Given the description of an element on the screen output the (x, y) to click on. 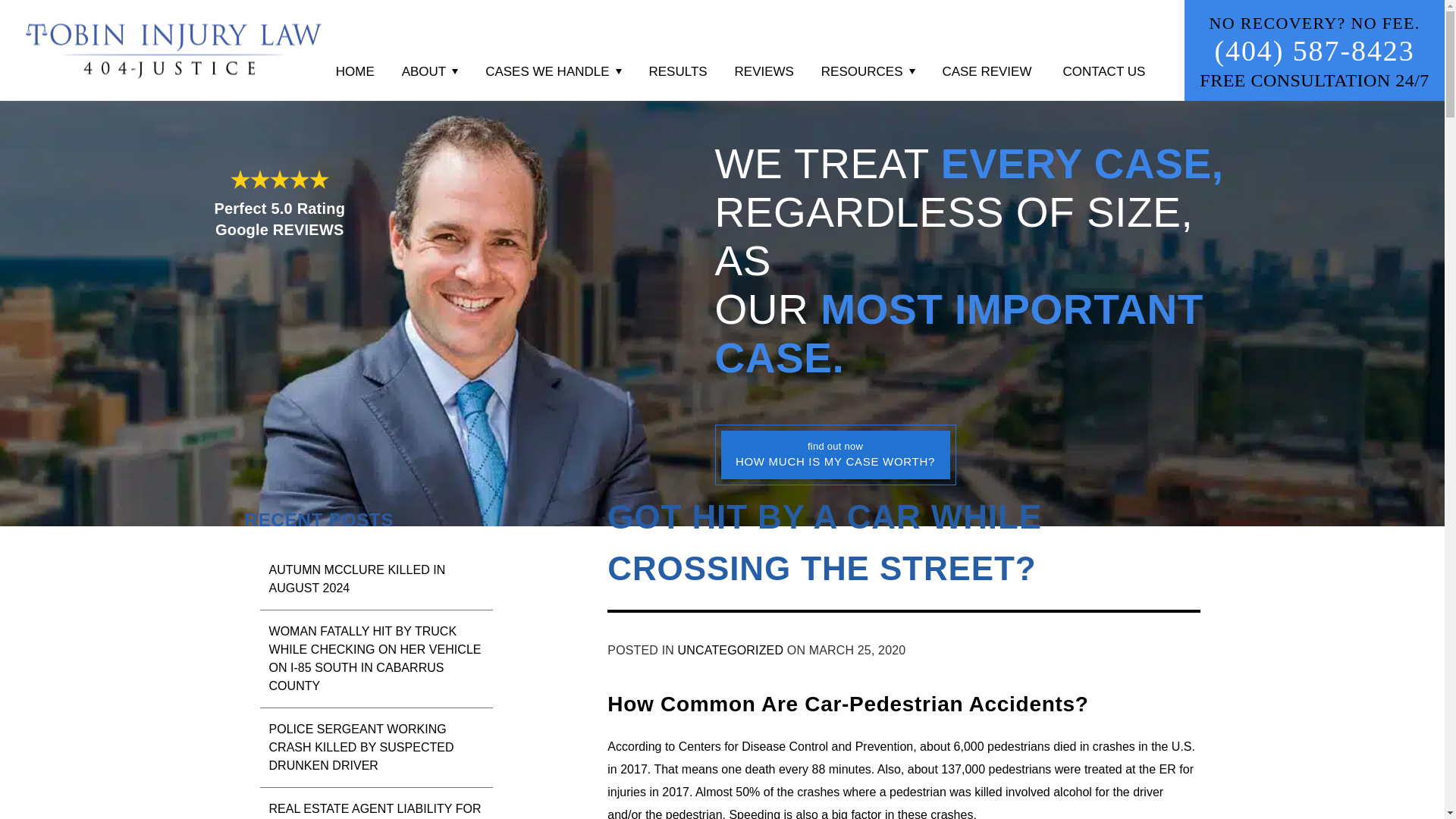
CASES WE HANDLE (553, 67)
ABOUT (430, 67)
Tobin Injury Law (173, 50)
RESOURCES (868, 67)
CONTACT US (1104, 67)
CASE REVIEW (986, 67)
RESULTS (677, 67)
REVIEWS (763, 67)
